Given the description of an element on the screen output the (x, y) to click on. 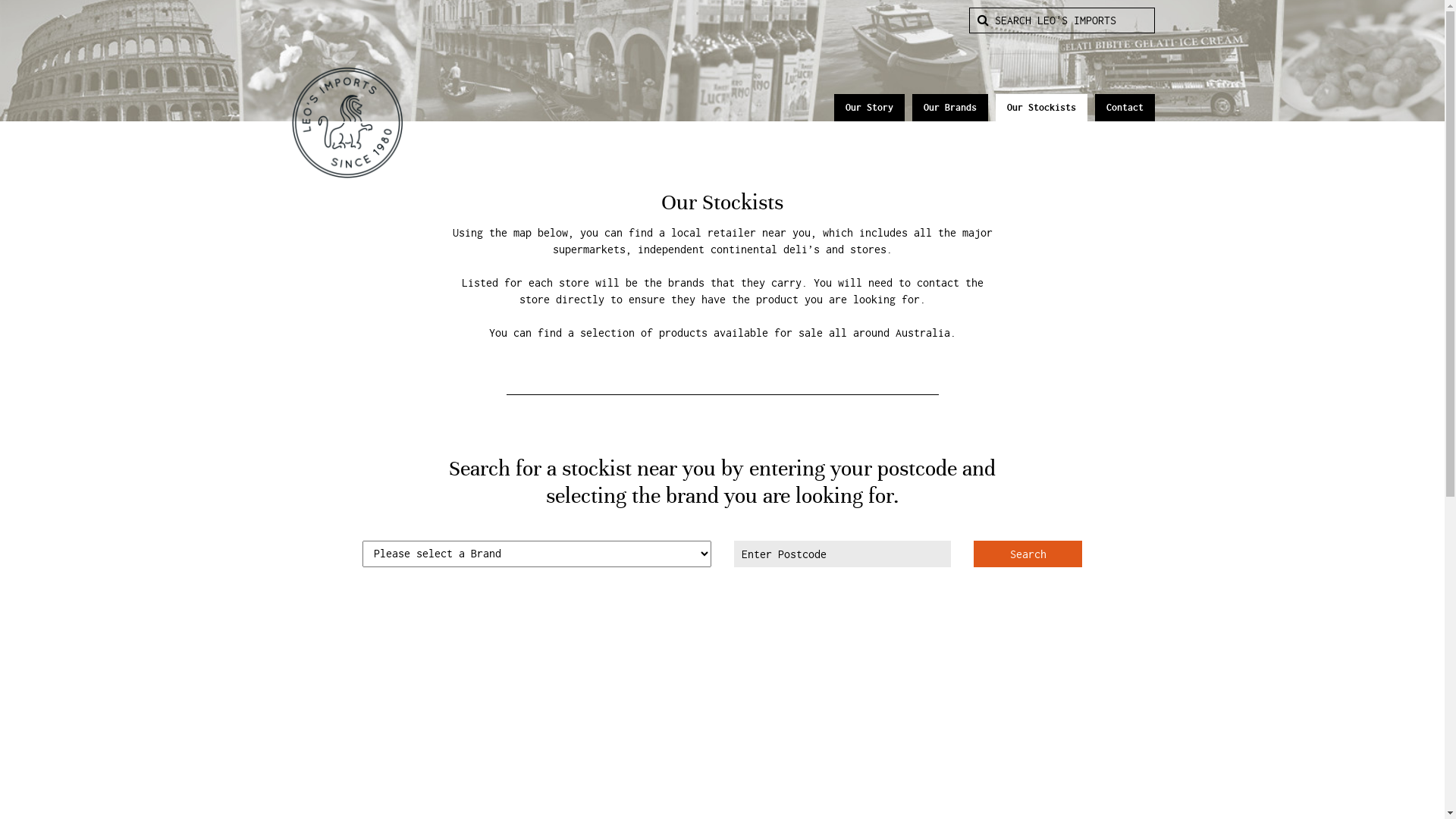
Contact Element type: text (1124, 107)
Leo's Imports Element type: hover (347, 122)
Our Stockists Element type: text (1040, 107)
Our Brands Element type: text (949, 107)
Our Story Element type: text (869, 107)
